Given the description of an element on the screen output the (x, y) to click on. 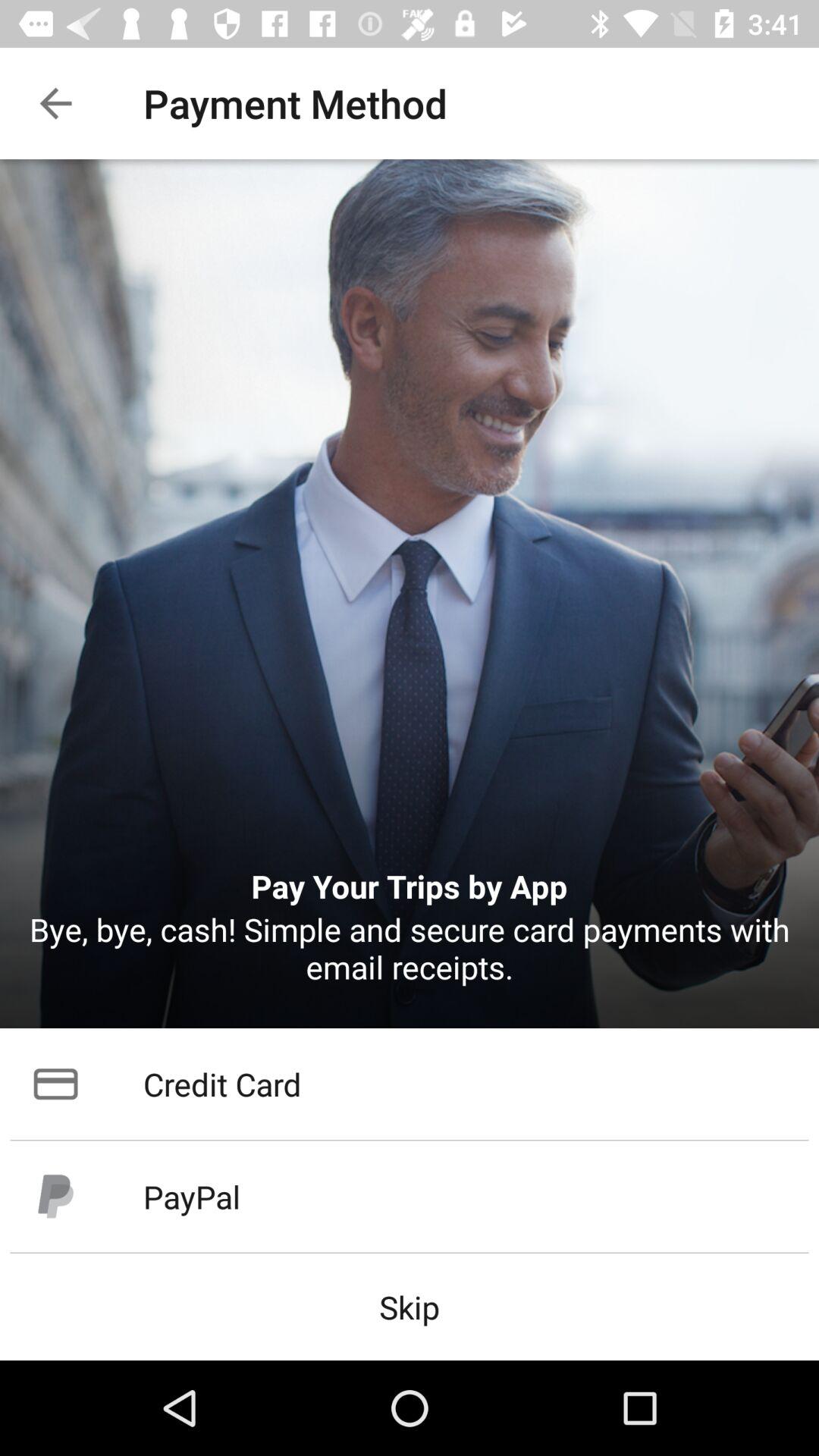
scroll to the credit card (409, 1083)
